Given the description of an element on the screen output the (x, y) to click on. 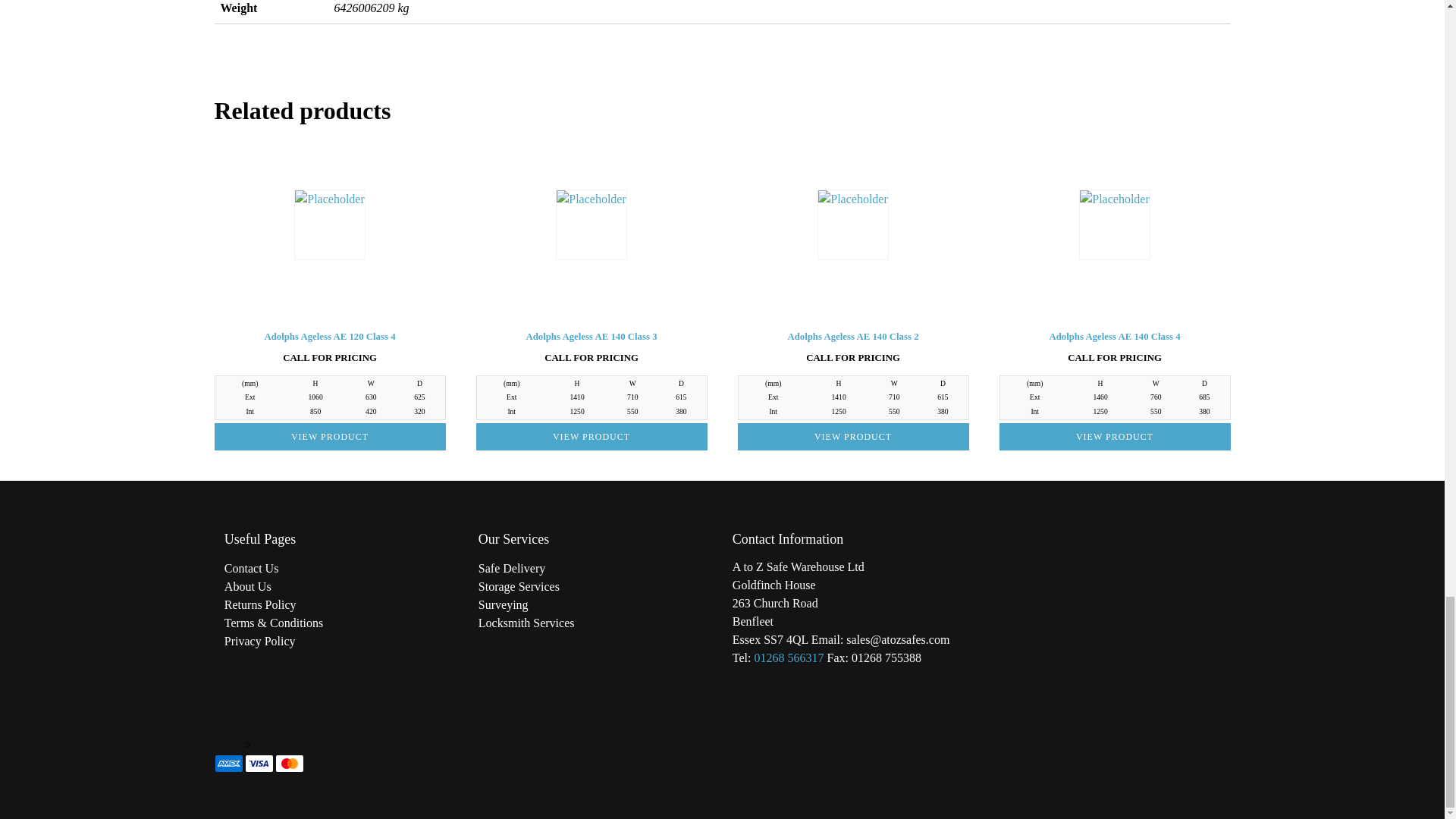
American Express (228, 763)
Visa (258, 763)
Mastercard (288, 763)
